Given the description of an element on the screen output the (x, y) to click on. 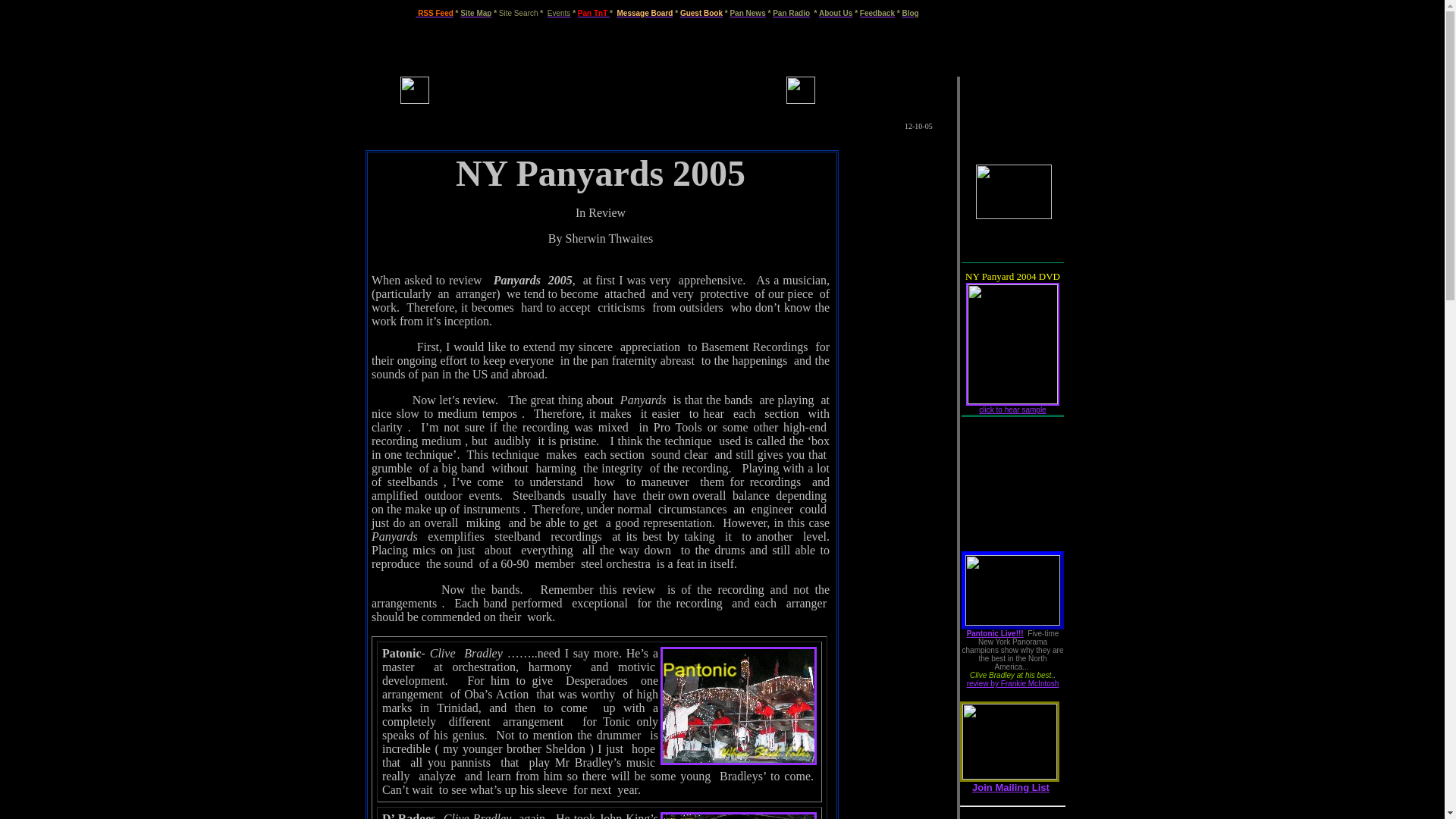
Pantonic Live!!! (994, 633)
Site Map (476, 13)
Events (558, 10)
Play List Feed (1011, 816)
Blog (909, 13)
About Us (834, 13)
Pan TnT (594, 13)
RSS Feed (434, 13)
review by Frankie McIntosh (1012, 683)
Preview Feed or Change Reader (434, 13)
Join M (987, 786)
Feedback (877, 13)
Guest Book (700, 13)
Check button to search site (518, 13)
click to hear sample (1011, 409)
